Given the description of an element on the screen output the (x, y) to click on. 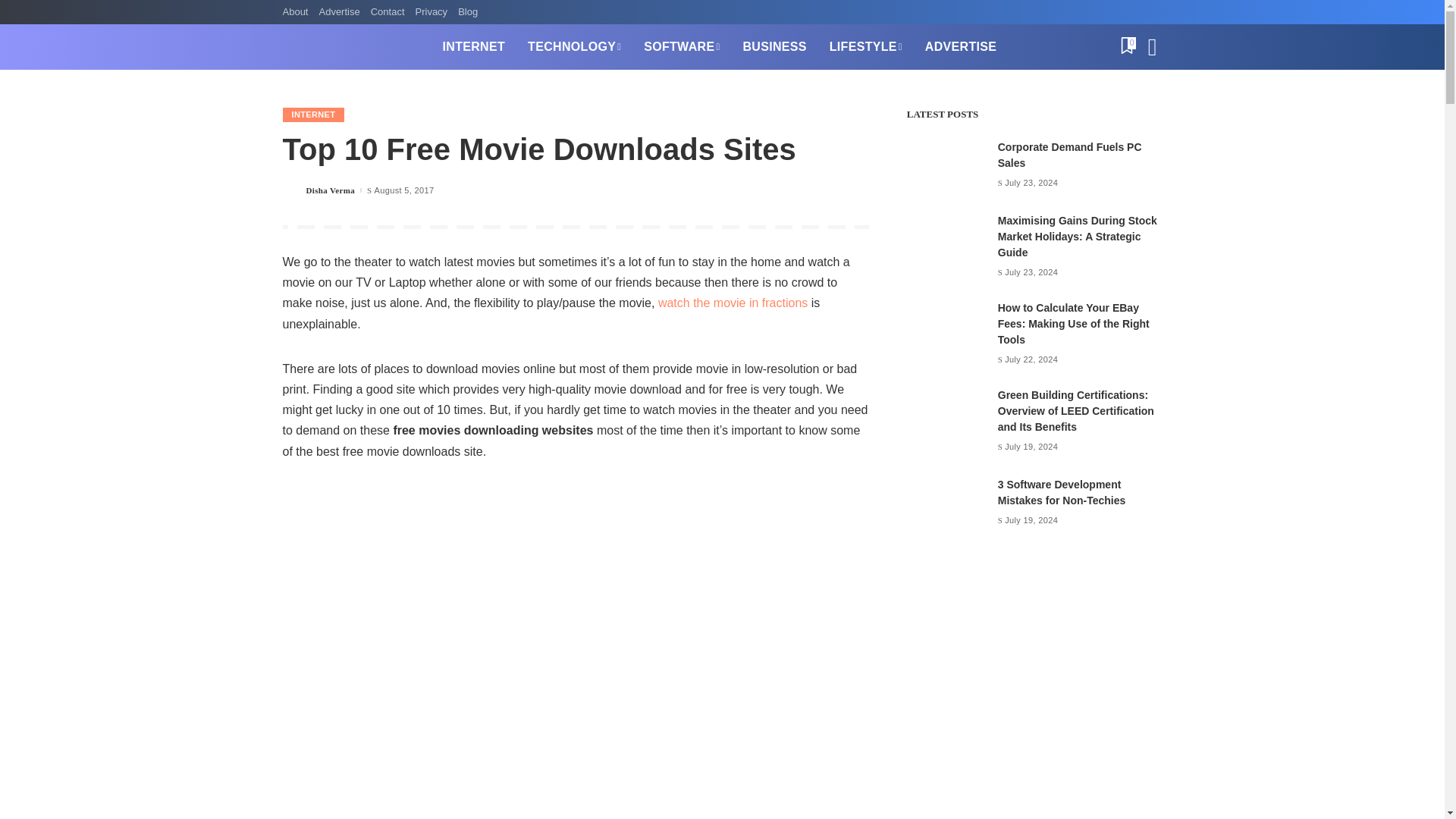
Bookmarks (1127, 46)
SOFTWARE (680, 46)
Supportive Guru (350, 46)
LIFESTYLE (866, 46)
INTERNET (473, 46)
BUSINESS (773, 46)
About (297, 11)
Contact (387, 11)
TECHNOLOGY (573, 46)
Advertise (339, 11)
Privacy (430, 11)
Blog (467, 11)
